Given the description of an element on the screen output the (x, y) to click on. 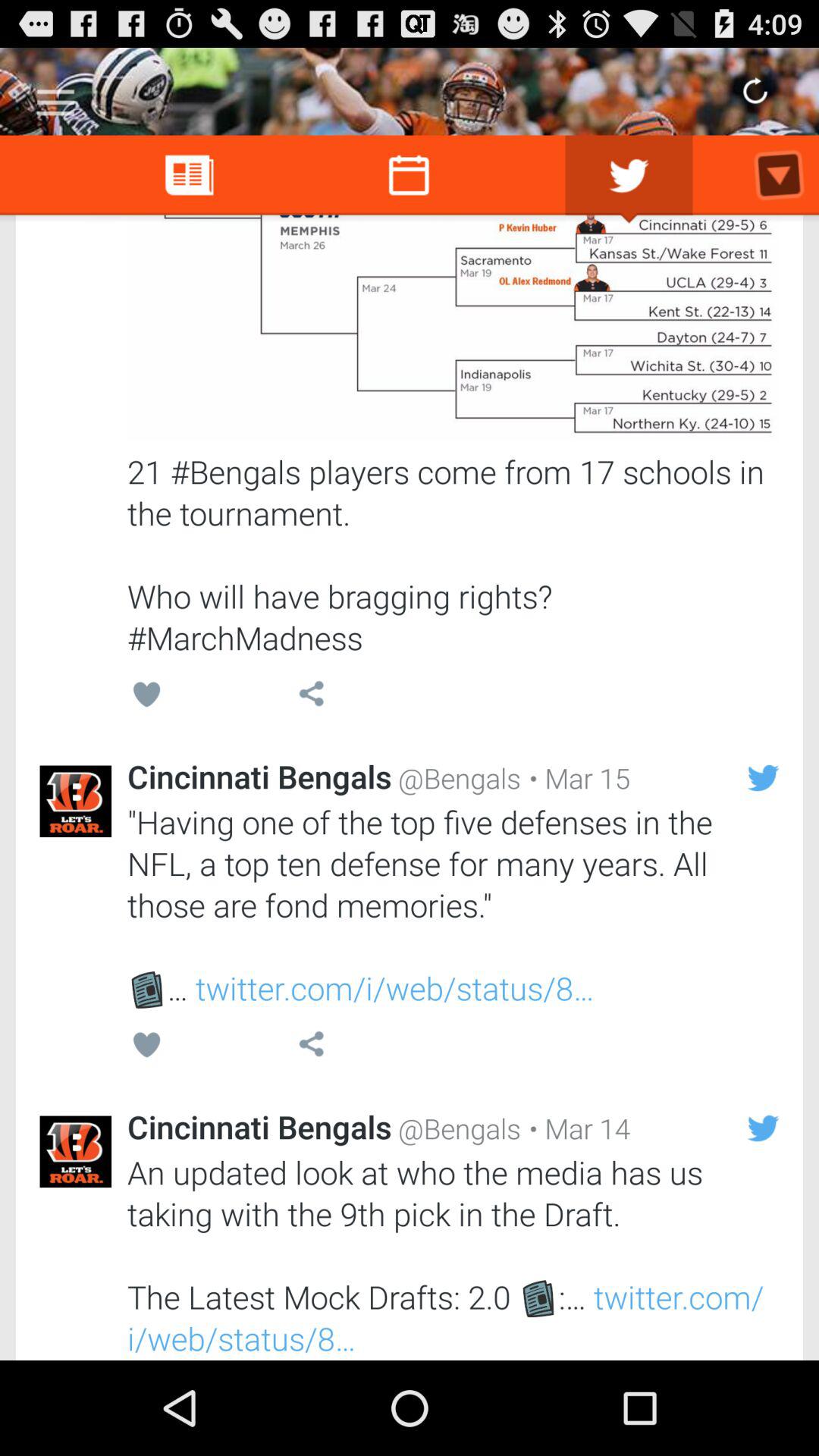
turn on the item below 21 bengals players item (575, 777)
